Given the description of an element on the screen output the (x, y) to click on. 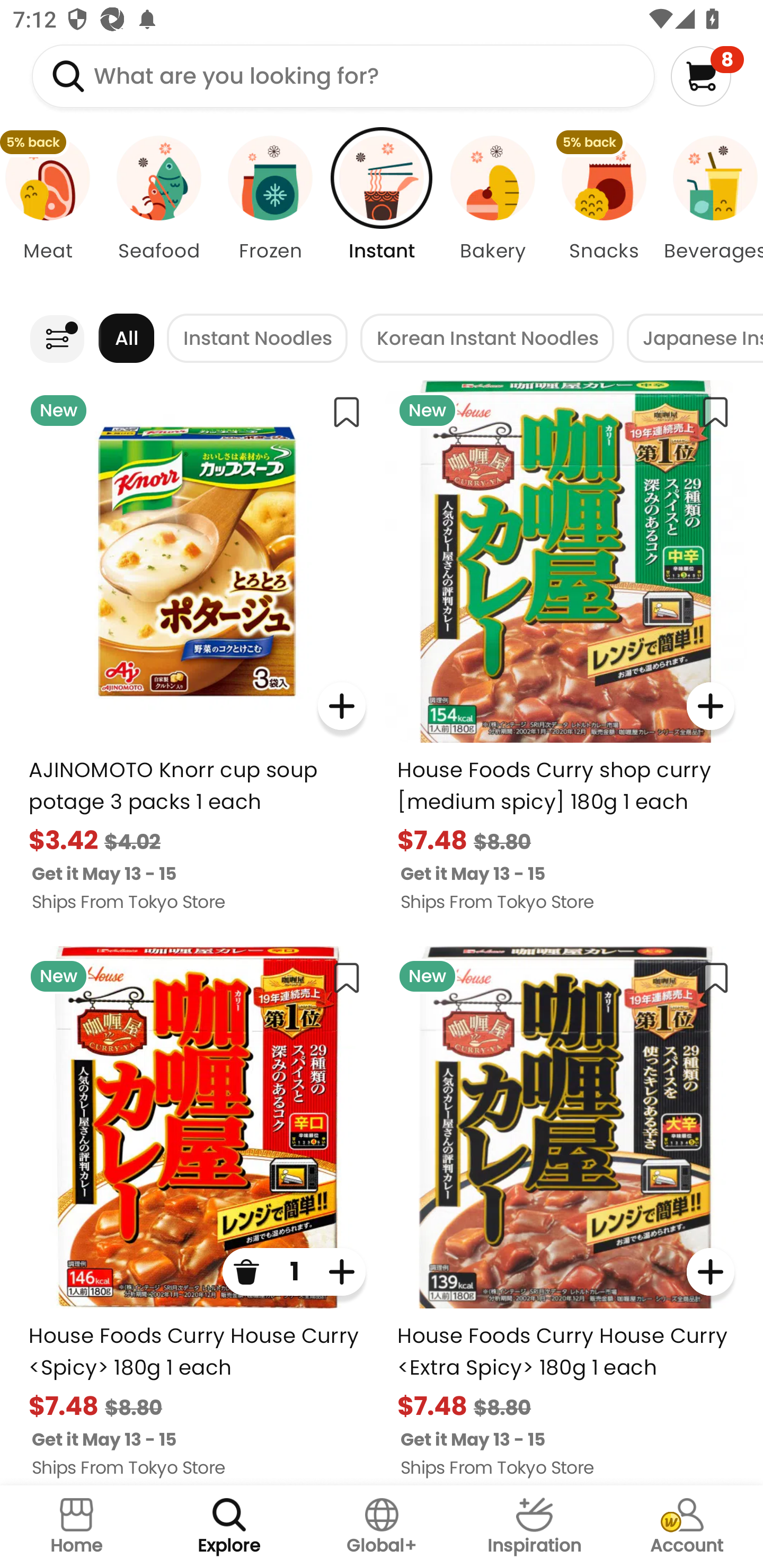
What are you looking for? (343, 75)
8 (706, 75)
5% back Meat (51, 214)
Seafood (158, 214)
Frozen (269, 214)
Instant (381, 214)
Bakery (492, 214)
5% back Snacks (603, 214)
Beverages (711, 214)
All (126, 337)
Instant Noodles (257, 337)
Korean Instant Noodles (487, 337)
Japanese Instant Noodles (695, 337)
Home (76, 1526)
Explore (228, 1526)
Global+ (381, 1526)
Inspiration (533, 1526)
Account (686, 1526)
